Given the description of an element on the screen output the (x, y) to click on. 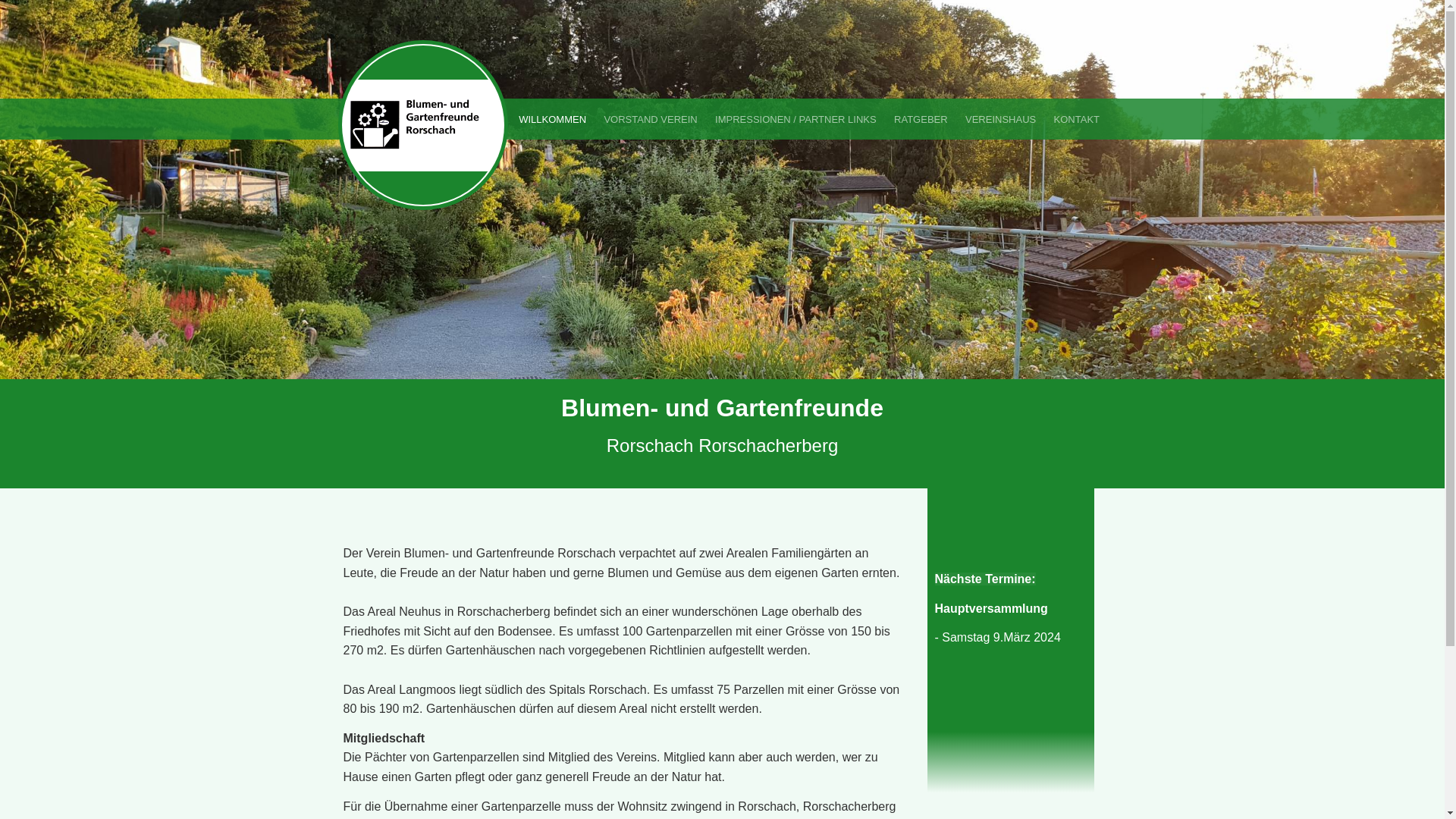
VEREINSHAUS Element type: text (1000, 118)
IMPRESSIONEN / PARTNER LINKS Element type: text (795, 118)
VORSTAND VEREIN Element type: text (650, 118)
RATGEBER Element type: text (920, 118)
WILLKOMMEN Element type: text (551, 118)
KONTAKT Element type: text (1076, 118)
